Given the description of an element on the screen output the (x, y) to click on. 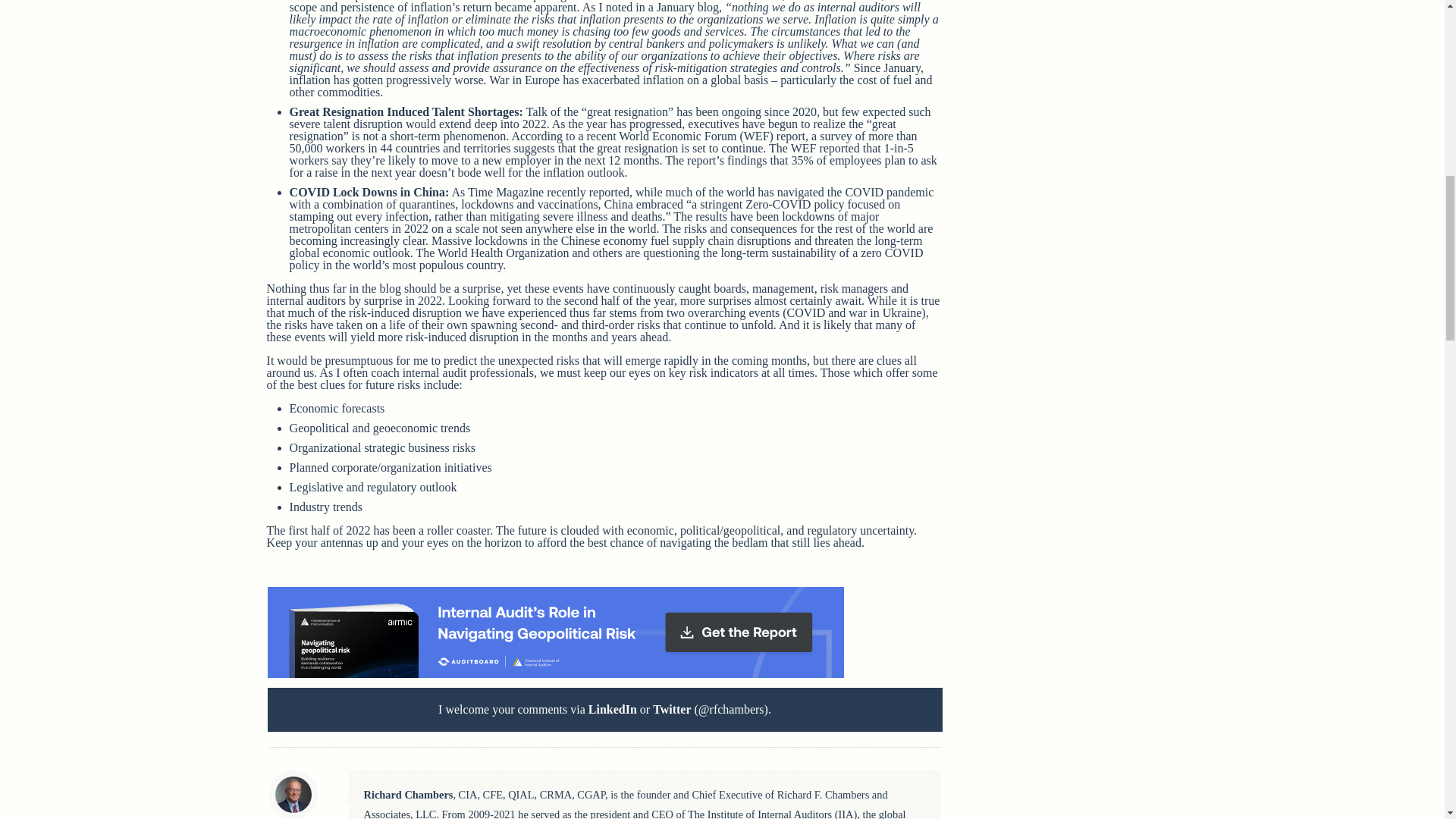
Twitter (671, 708)
January blog (687, 6)
Time Magazine recently reported (547, 192)
LinkedIn (612, 708)
